Given the description of an element on the screen output the (x, y) to click on. 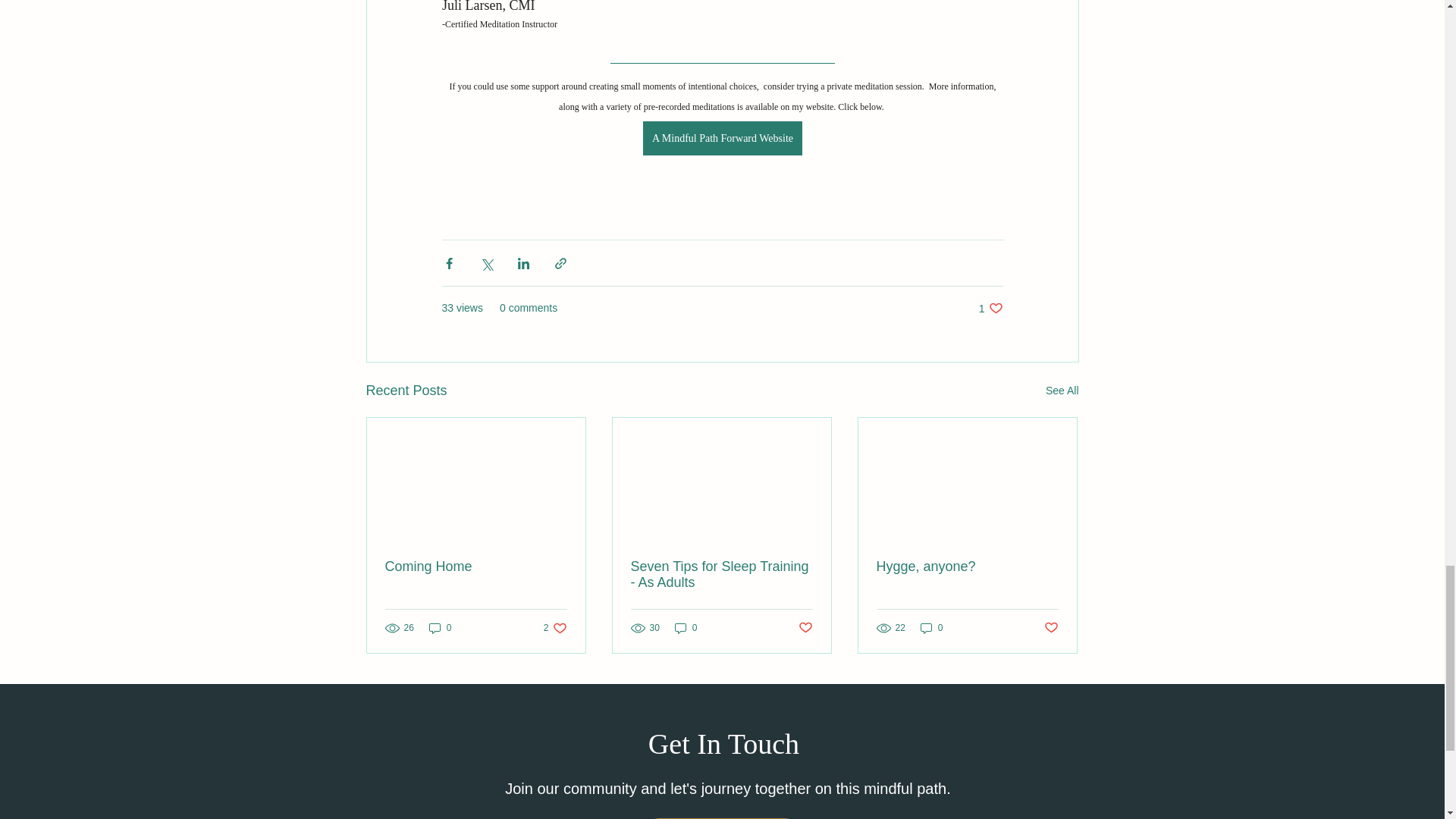
Hygge, anyone? (990, 308)
See All (967, 566)
Contact Me (1061, 391)
0 (1050, 627)
0 (931, 626)
Coming Home (685, 626)
Seven Tips for Sleep Training - As Adults (476, 566)
